Given the description of an element on the screen output the (x, y) to click on. 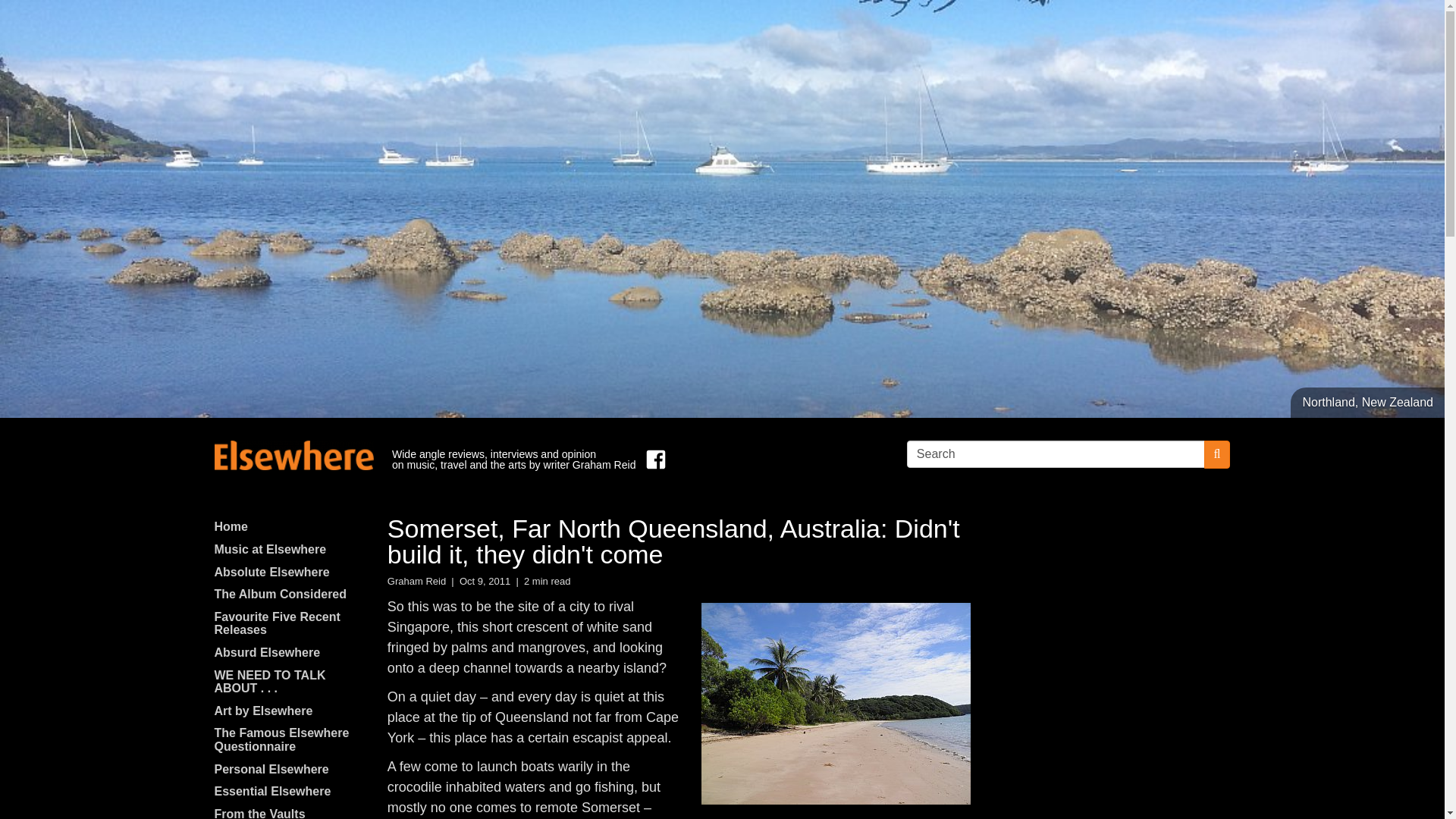
Find us on Facebook (652, 459)
Search (1056, 453)
Search (1056, 453)
Elsewhere by Graham Reid (293, 455)
